Given the description of an element on the screen output the (x, y) to click on. 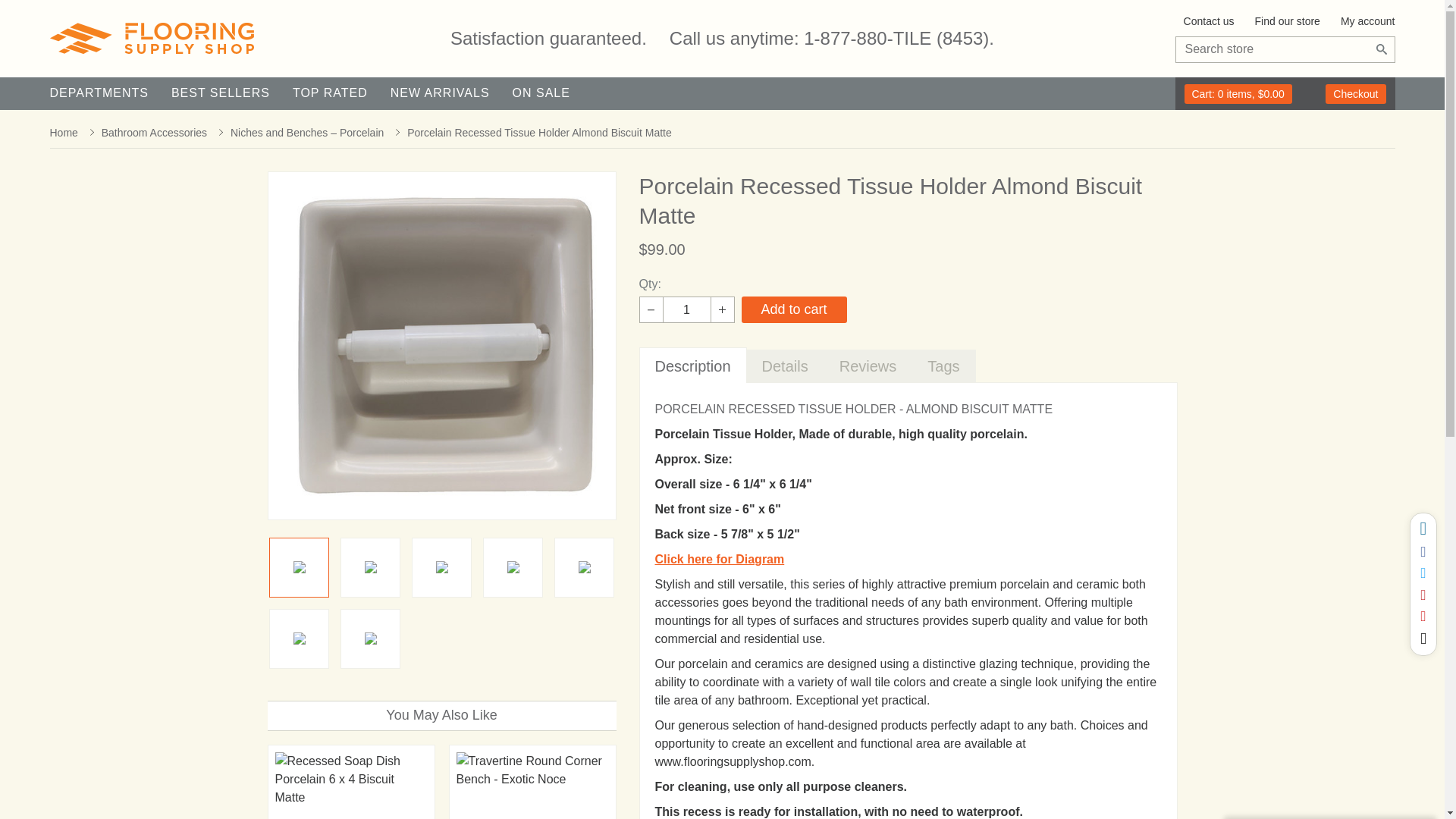
1 (686, 309)
